Given the description of an element on the screen output the (x, y) to click on. 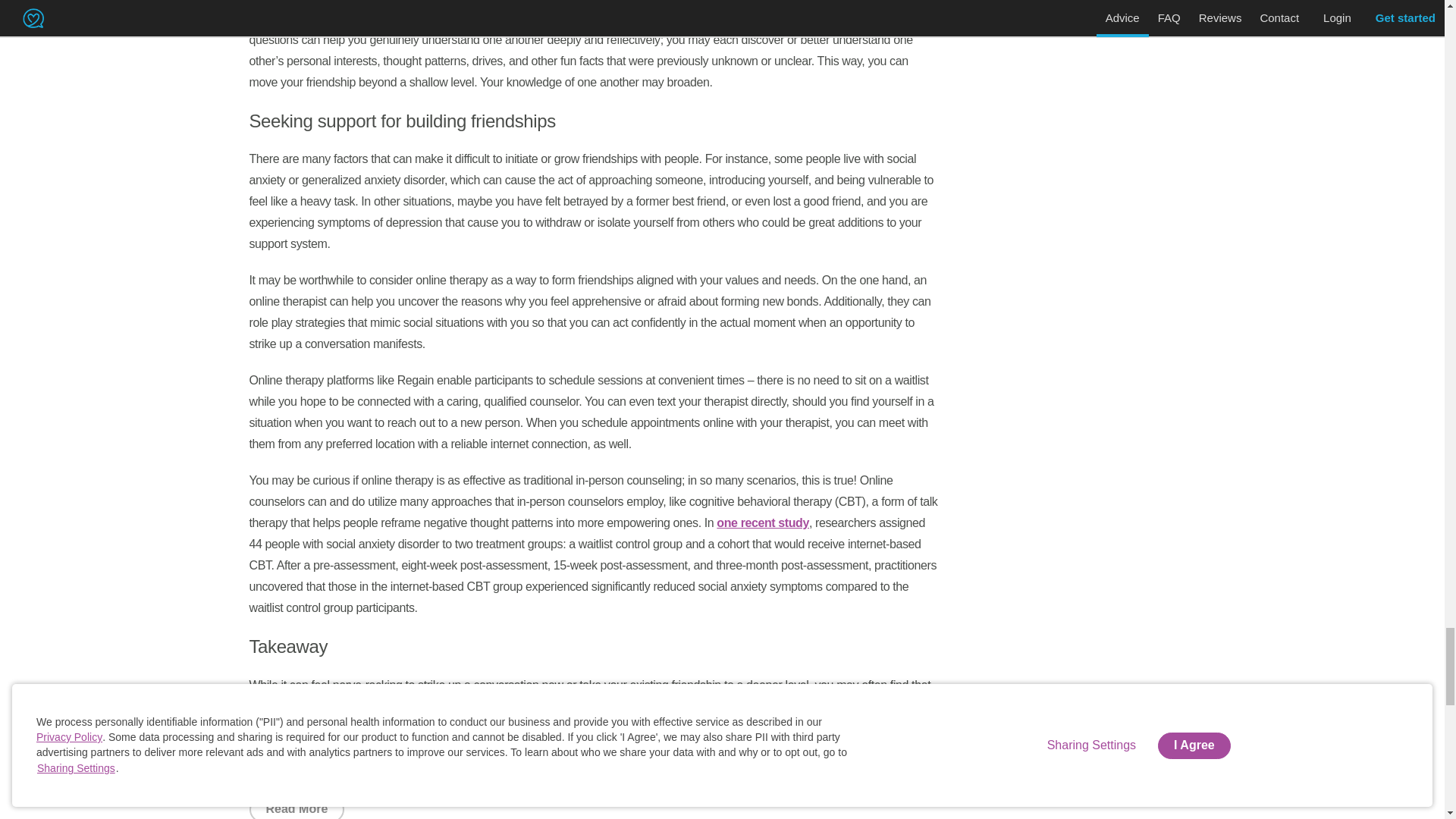
tremendous impact (301, 727)
one recent study (762, 522)
Read More (295, 807)
Regain (333, 769)
